Given the description of an element on the screen output the (x, y) to click on. 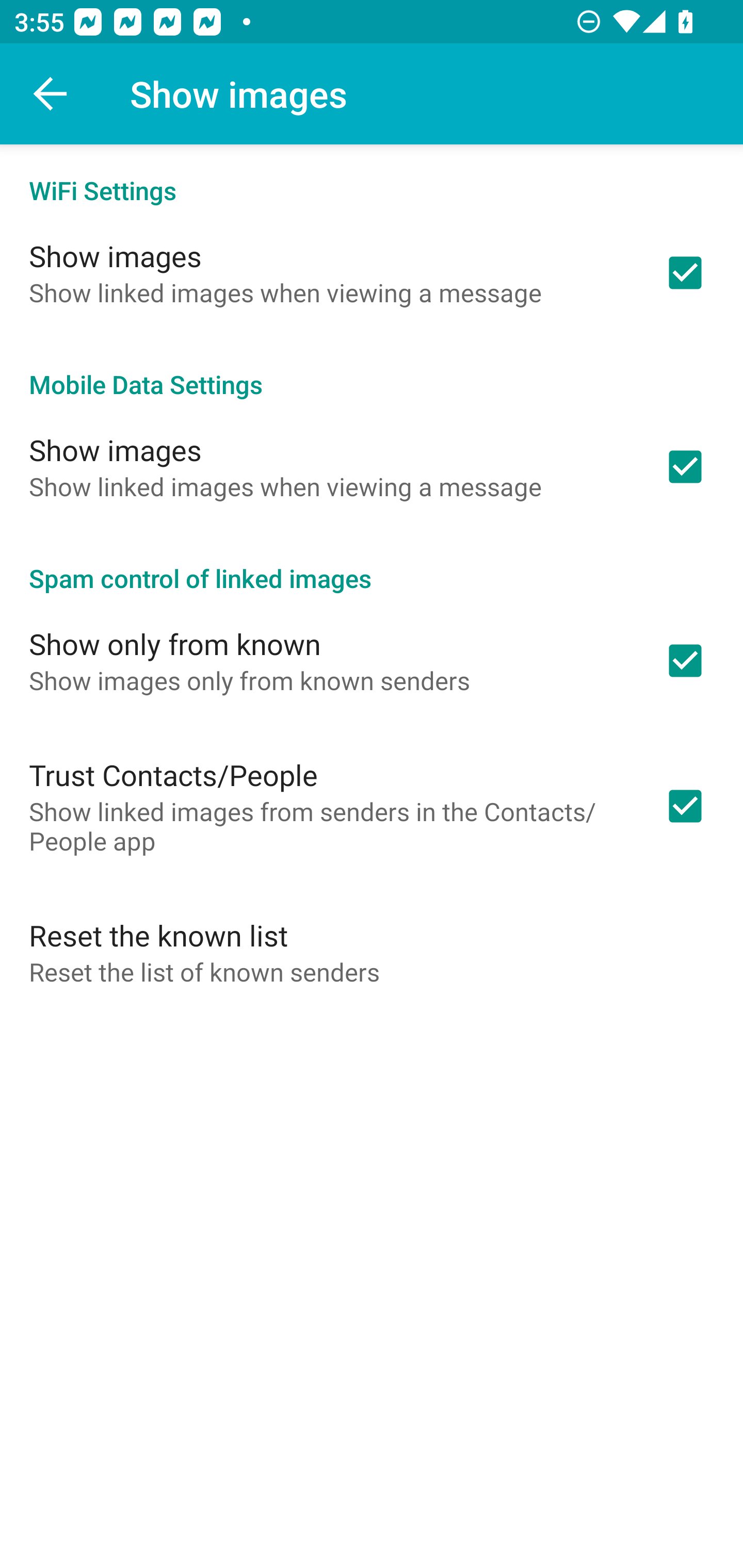
Navigate up (50, 93)
